Given the description of an element on the screen output the (x, y) to click on. 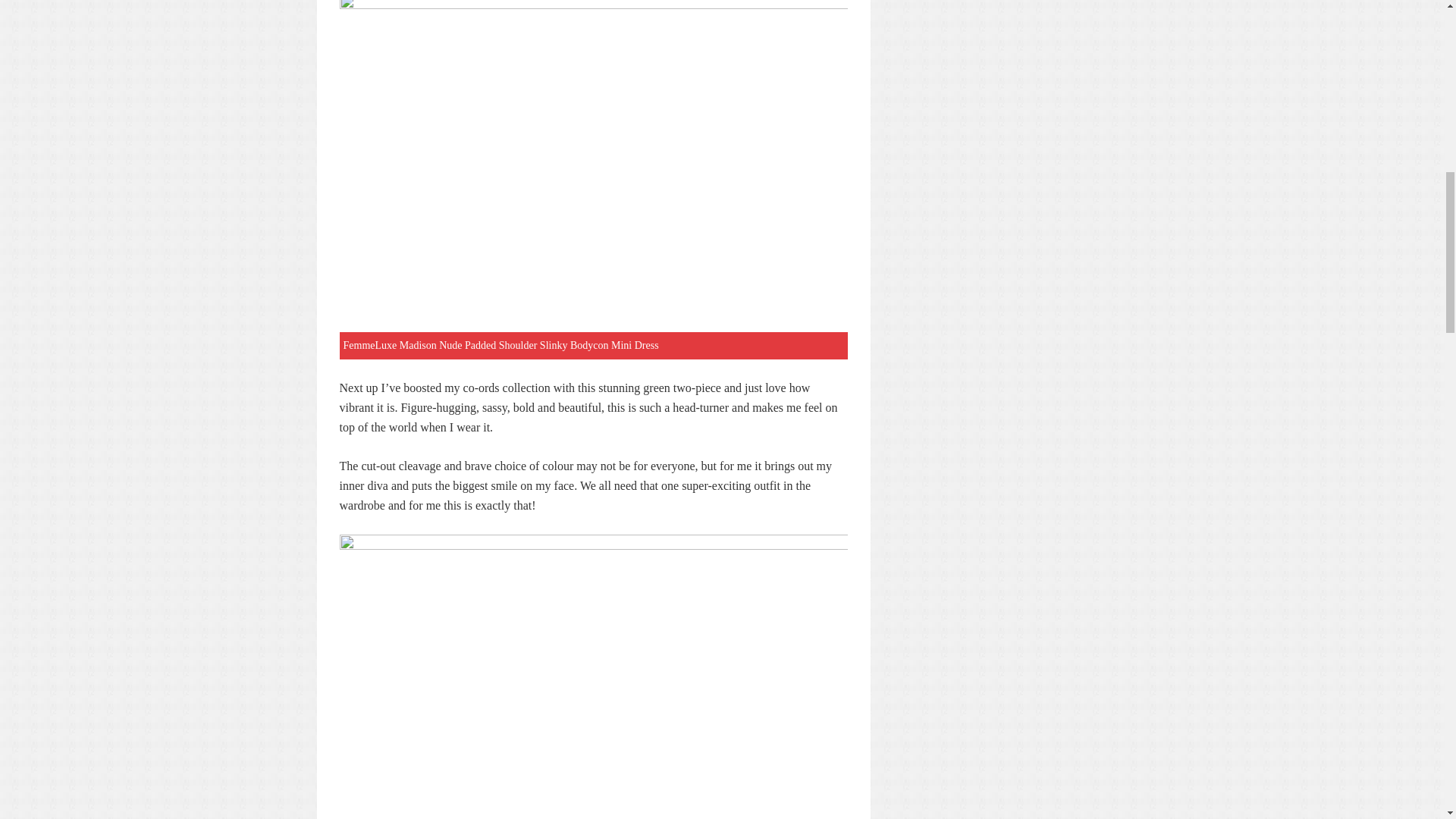
co-ords (481, 387)
